Given the description of an element on the screen output the (x, y) to click on. 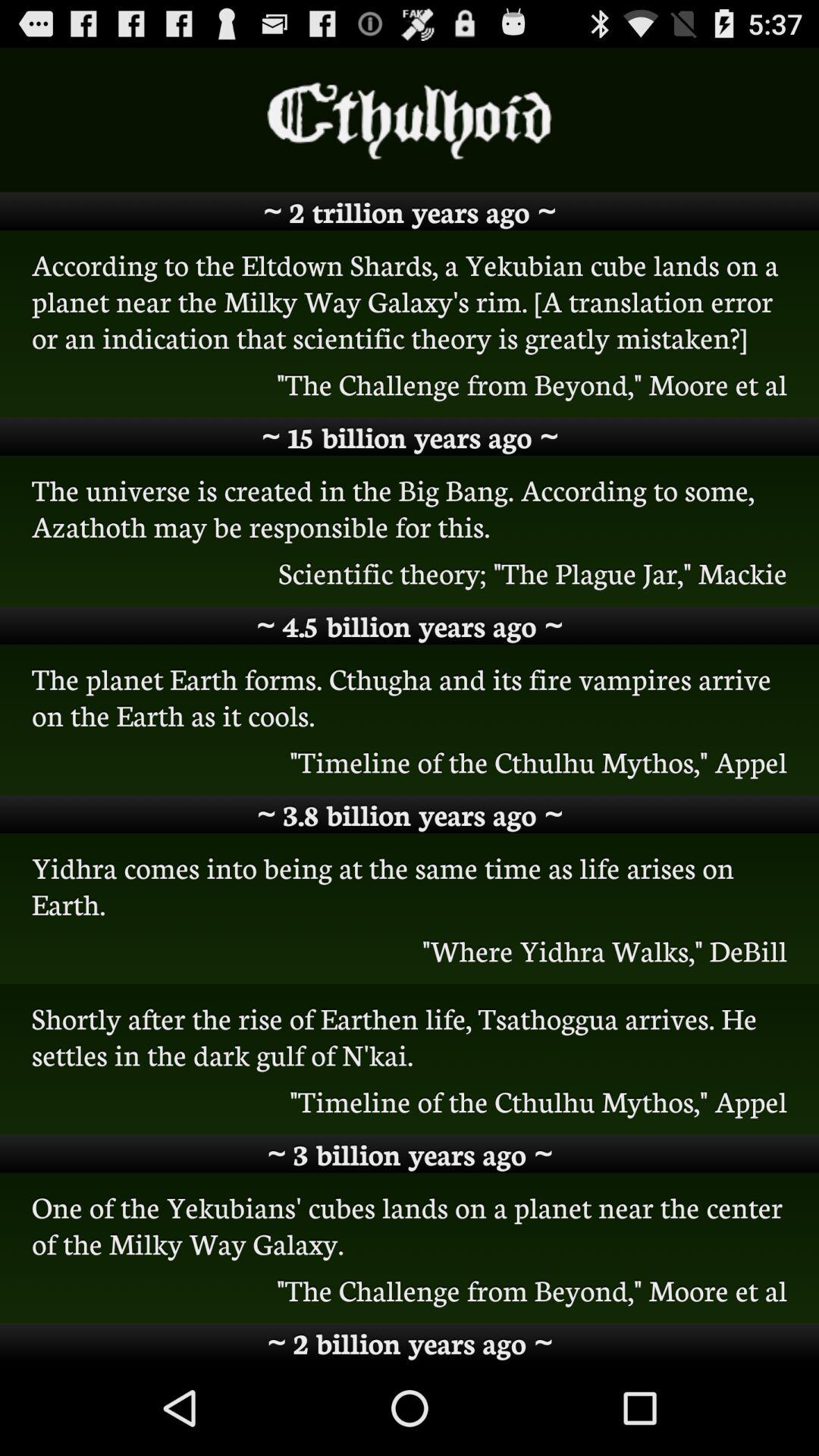
turn on the universe is (409, 507)
